Given the description of an element on the screen output the (x, y) to click on. 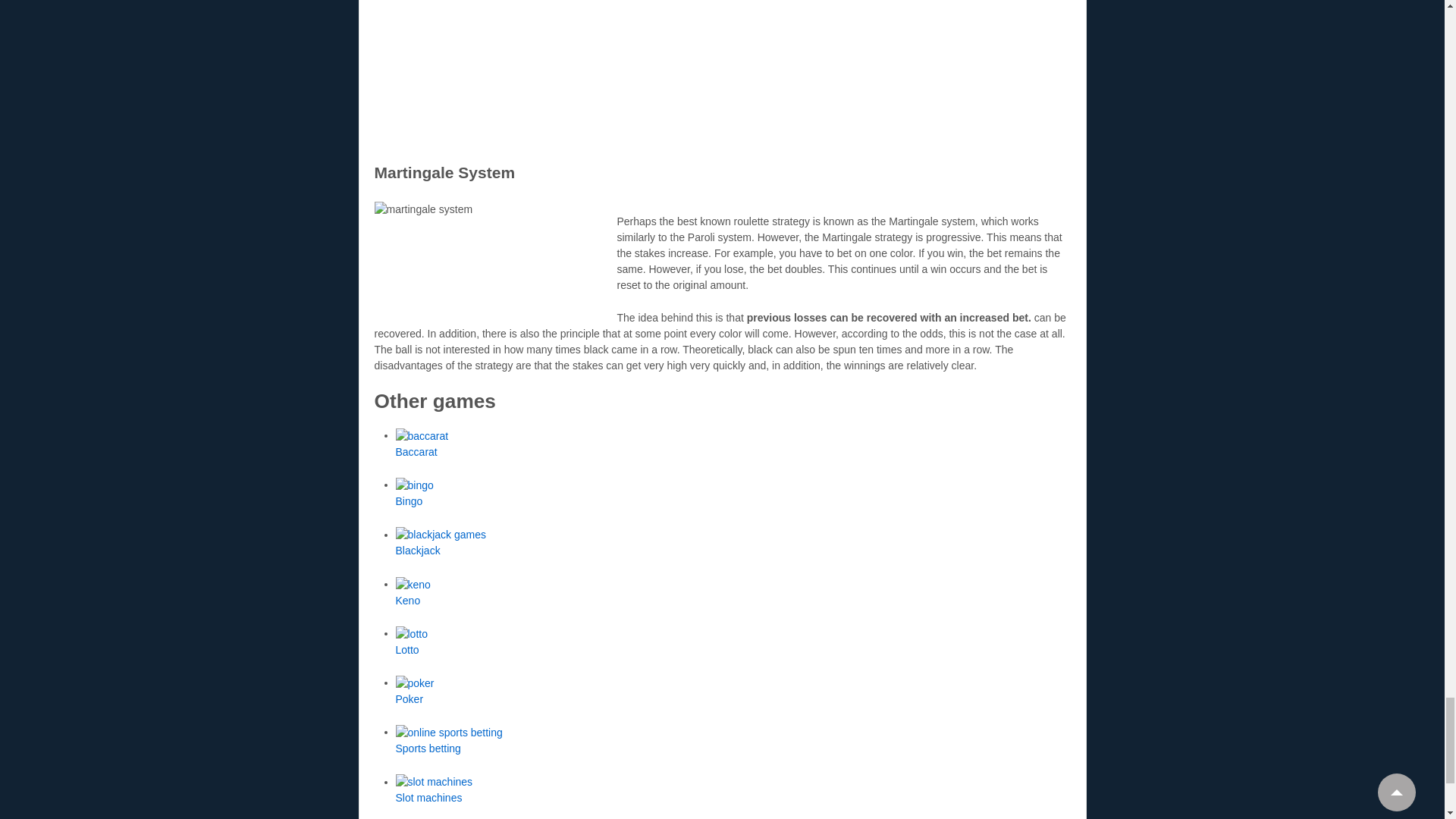
Sports betting (428, 748)
Slot machines (429, 797)
Poker (409, 698)
Keno (408, 600)
Lotto (407, 649)
Blackjack (418, 550)
Bingo (409, 500)
Baccarat (417, 451)
